Given the description of an element on the screen output the (x, y) to click on. 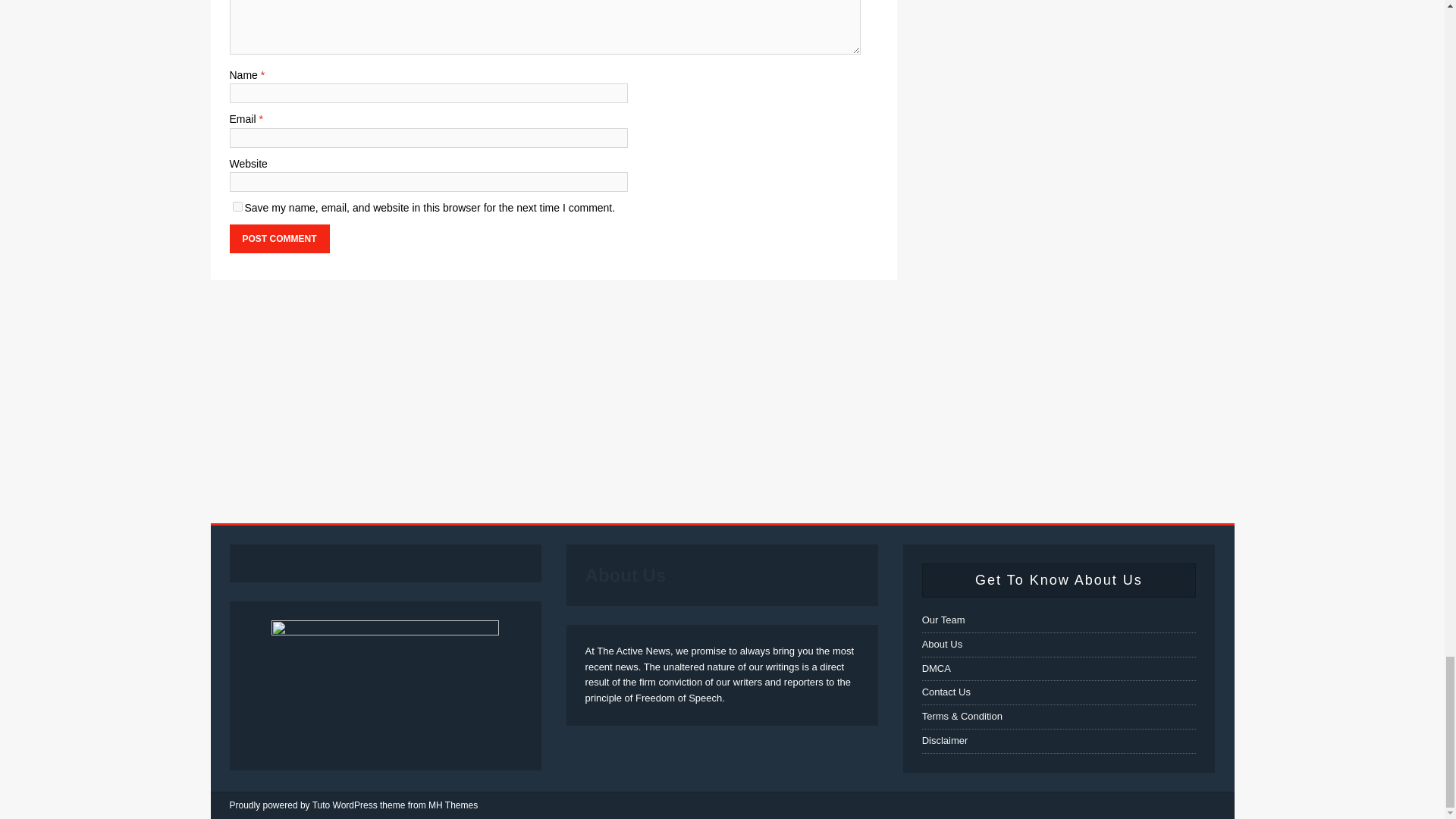
yes (236, 206)
Post Comment (278, 238)
Post Comment (278, 238)
